Given the description of an element on the screen output the (x, y) to click on. 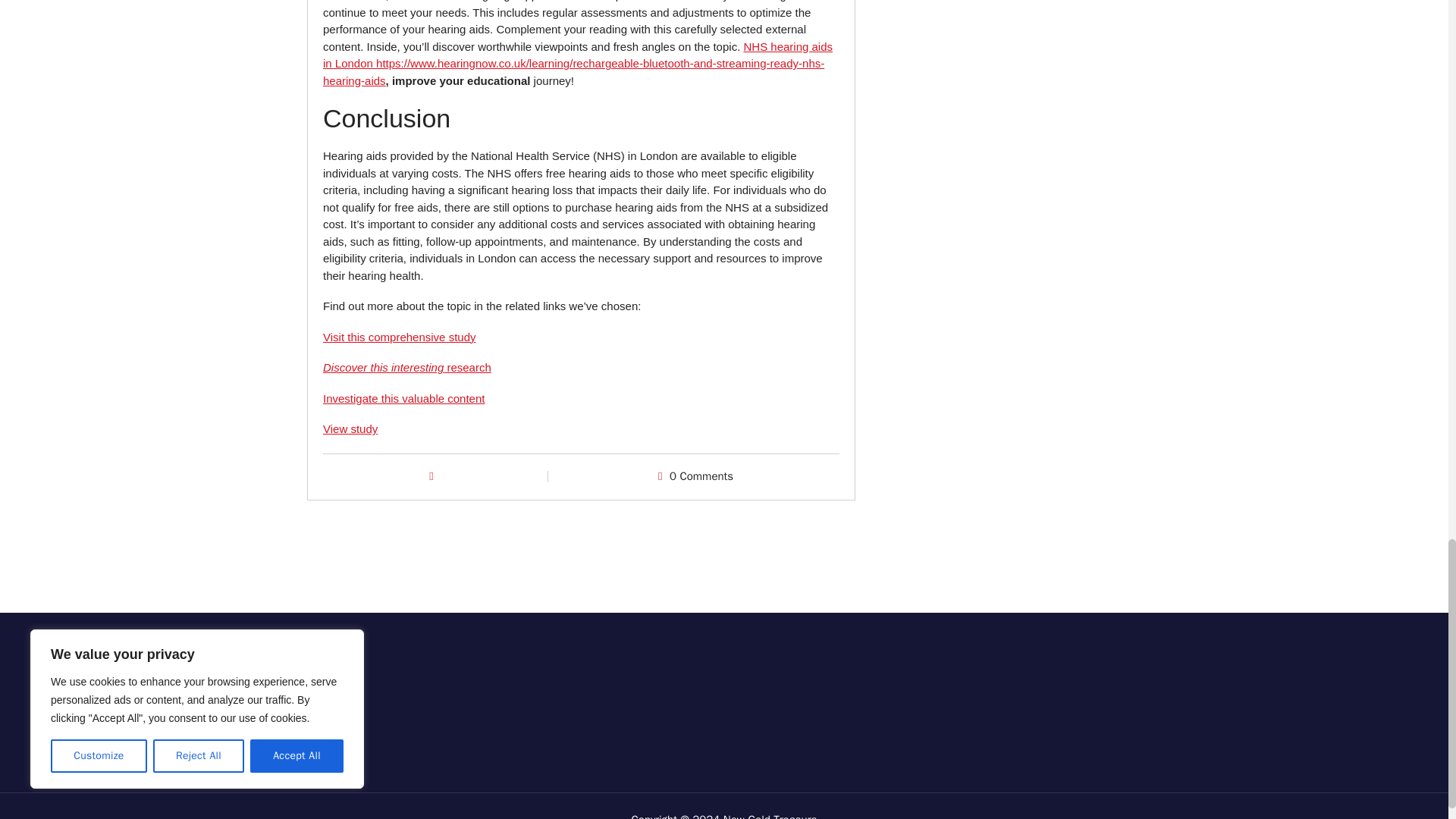
Visit this comprehensive study (399, 336)
Investigate this valuable content (403, 398)
Discover this interesting research (407, 367)
